Given the description of an element on the screen output the (x, y) to click on. 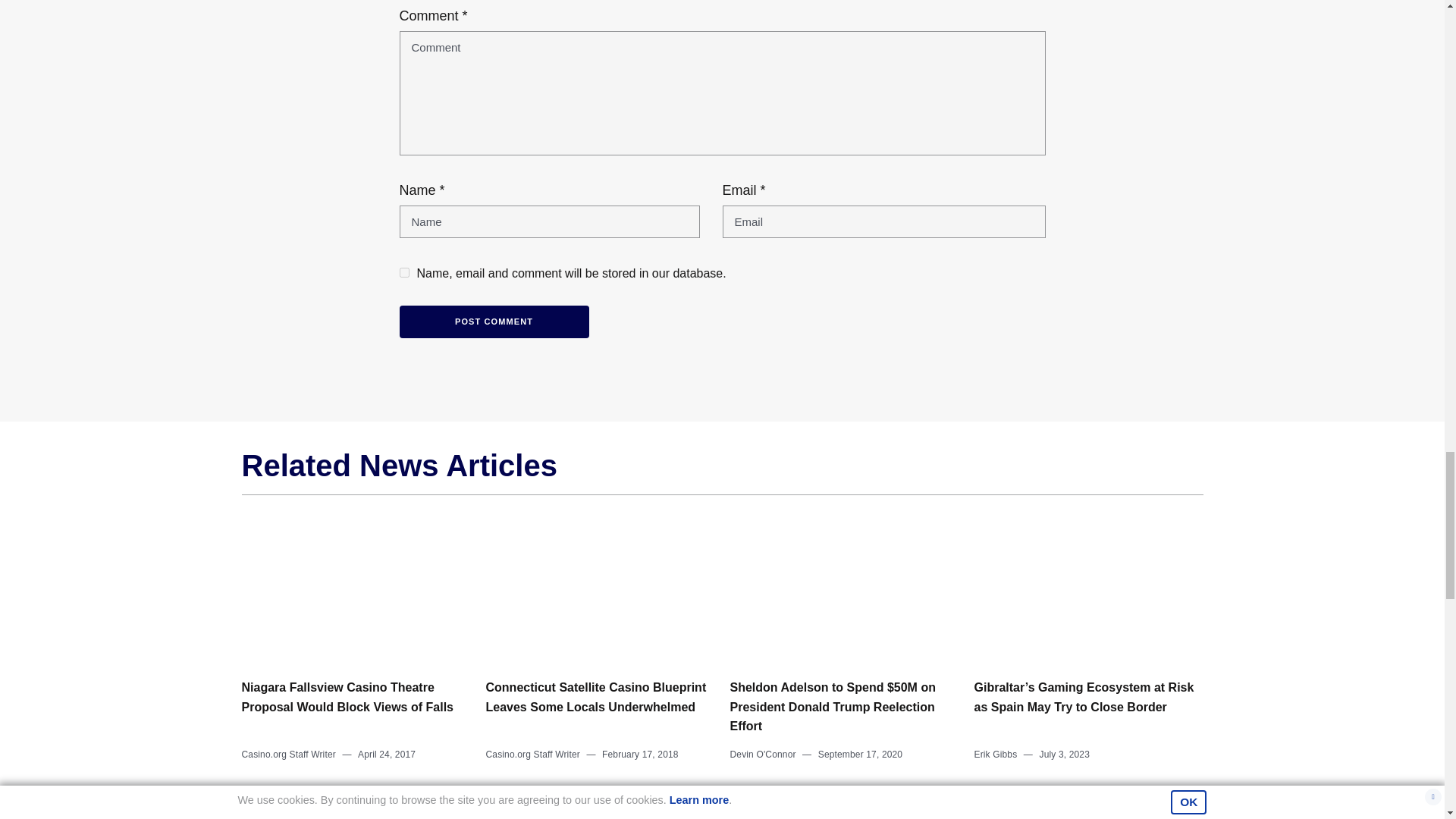
Post Comment (493, 321)
yes (403, 272)
